Given the description of an element on the screen output the (x, y) to click on. 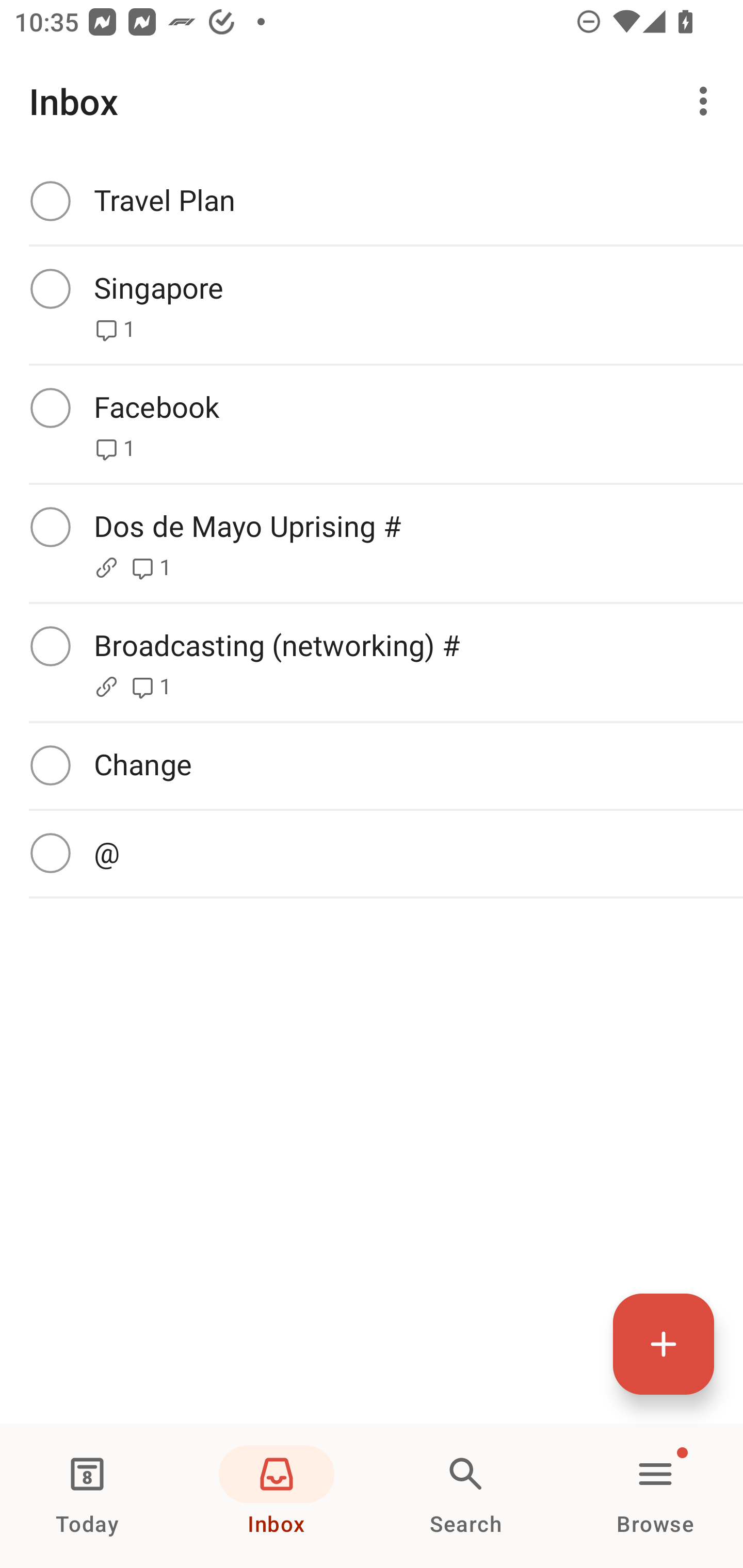
Inbox More options (371, 100)
More options (706, 101)
Complete Travel Plan (371, 201)
Complete (50, 200)
Complete Singapore 1 Comments (371, 304)
Complete (50, 288)
Complete Facebook 1 Comments (371, 423)
Complete (50, 407)
Complete (50, 526)
Complete (50, 645)
Complete Change (371, 765)
Complete (50, 765)
Complete @ (371, 853)
Complete (50, 852)
Quick add (663, 1343)
Today (87, 1495)
Search (465, 1495)
Browse (655, 1495)
